Given the description of an element on the screen output the (x, y) to click on. 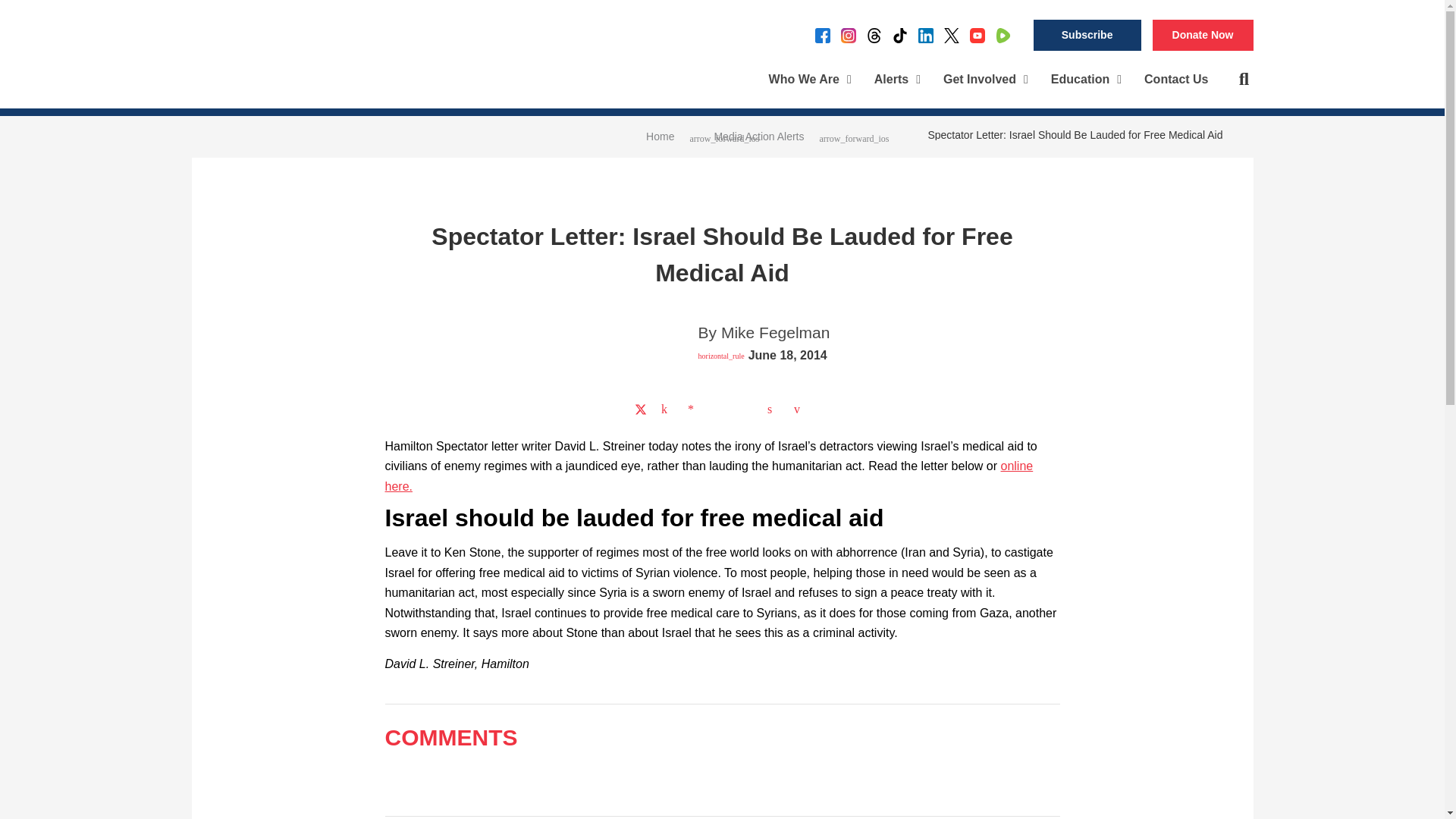
Home (660, 136)
Who We Are (810, 79)
Share on Facebook Messenger (693, 409)
Media Action Alerts (758, 136)
Share on Print (772, 409)
Share on WhatsApp (720, 409)
Share on Telegram (746, 409)
Subscribe (1087, 34)
Share on LinkedIn (667, 409)
Contact Us (1176, 79)
Donate Now (1203, 34)
Education (1085, 79)
Get Involved (985, 79)
Share on Email (799, 409)
Share on Twitter (640, 409)
